Given the description of an element on the screen output the (x, y) to click on. 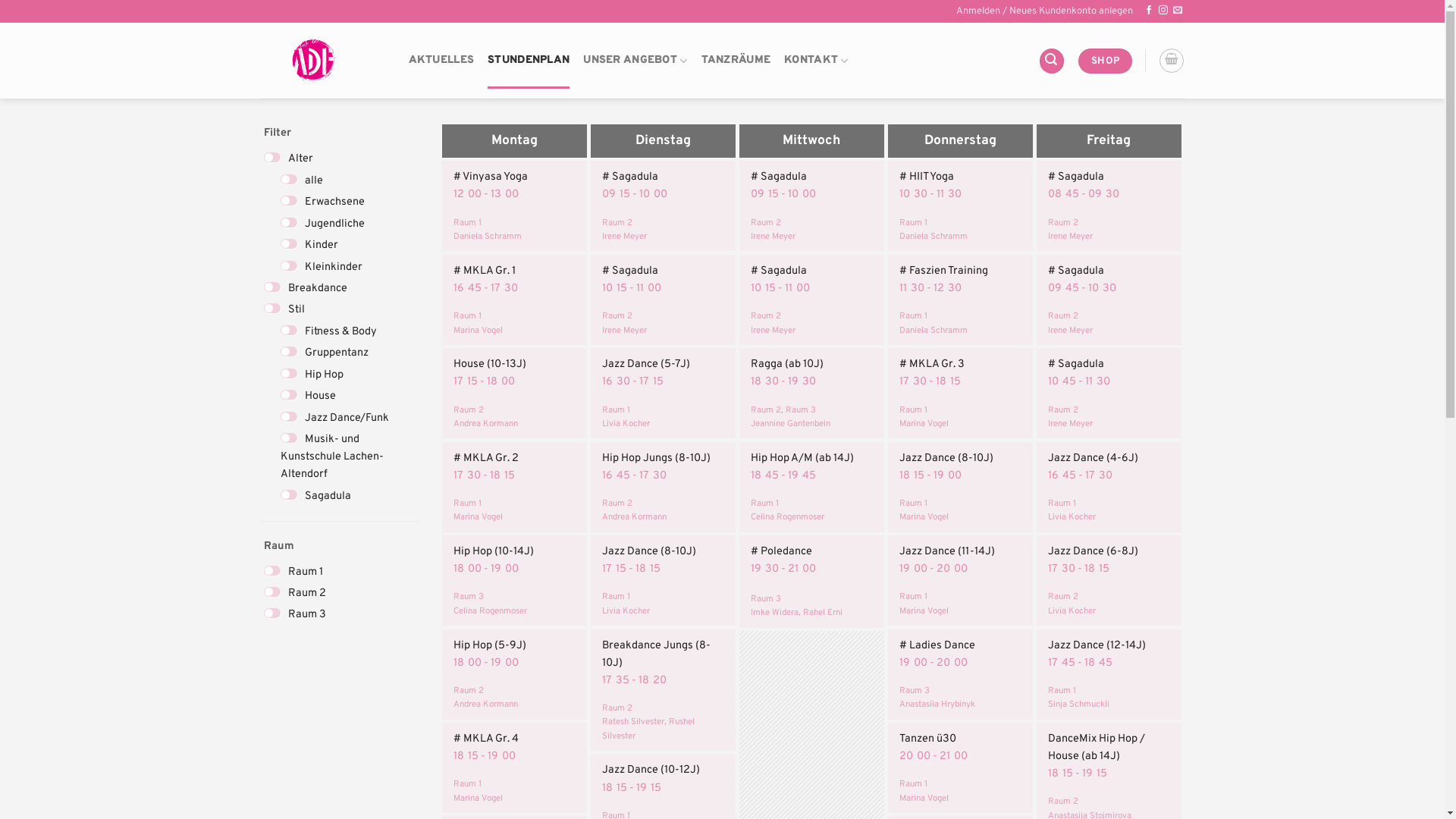
ADF Ambition Dance Formation - Tanzschule Element type: hover (322, 60)
STUNDENPLAN Element type: text (528, 60)
SHOP Element type: text (1105, 61)
AKTUELLES Element type: text (440, 60)
UNSER ANGEBOT Element type: text (635, 60)
Anmelden / Neues Kundenkonto anlegen Element type: text (1044, 11)
KONTAKT Element type: text (816, 60)
Warenkorb Element type: hover (1171, 60)
